Given the description of an element on the screen output the (x, y) to click on. 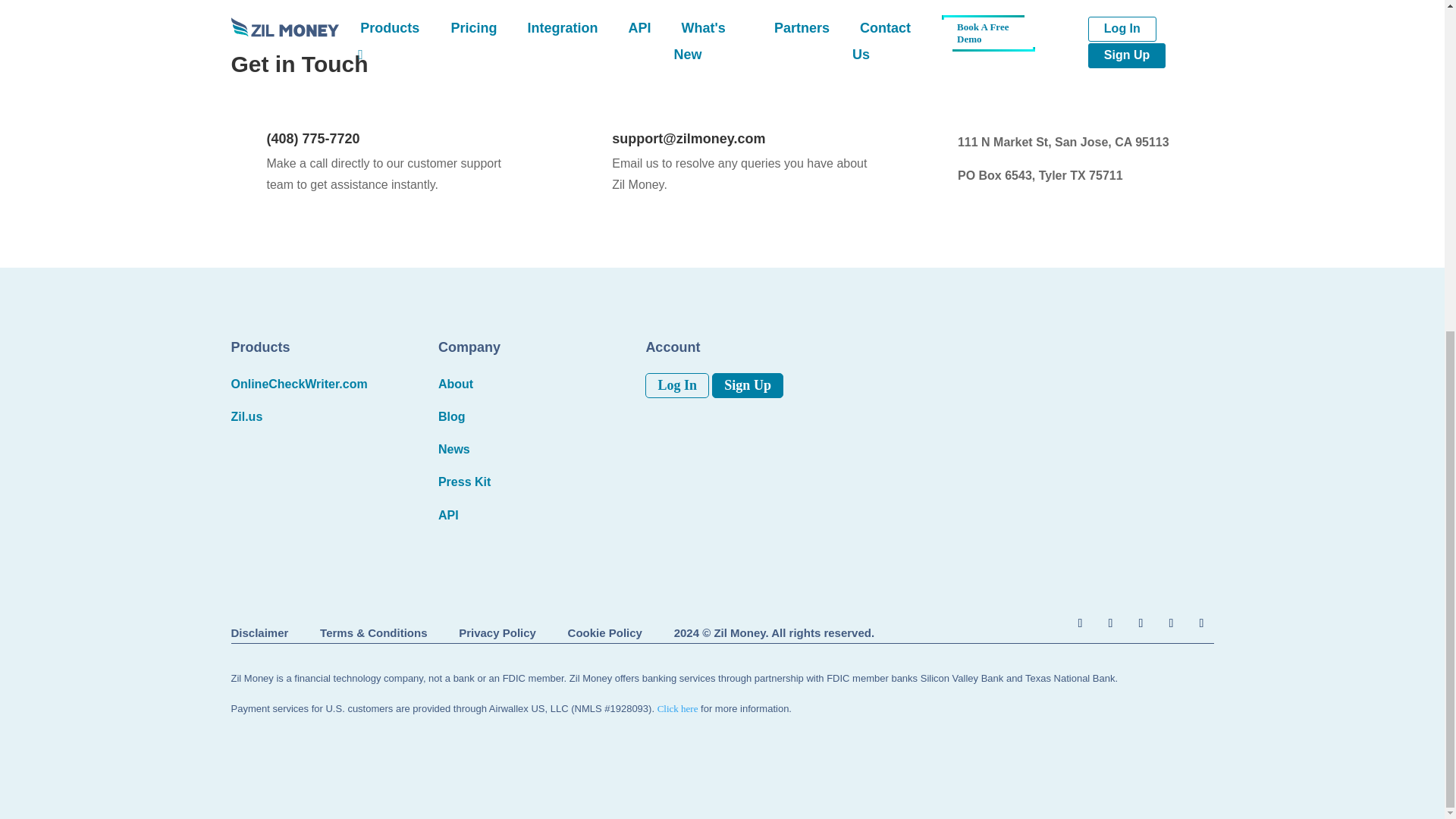
About (455, 383)
Follow on Instagram (1140, 622)
Press Kit (464, 481)
Log In (677, 385)
API (448, 513)
Blog (451, 416)
OnlineCheckWriter.com (298, 383)
News (454, 449)
Sign Up (747, 385)
Follow on X (1109, 622)
